Given the description of an element on the screen output the (x, y) to click on. 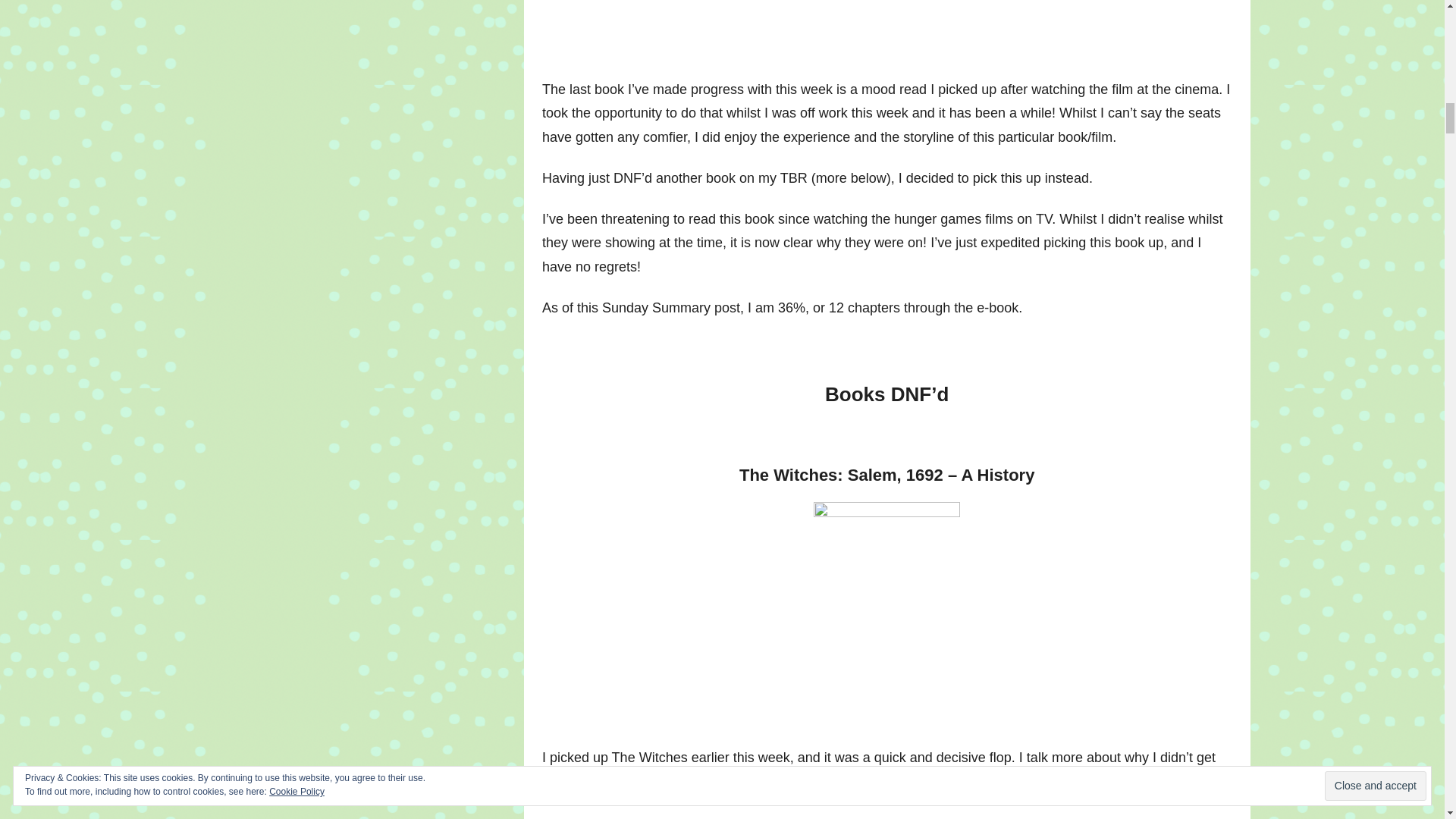
monthly wrap-up (732, 780)
